Given the description of an element on the screen output the (x, y) to click on. 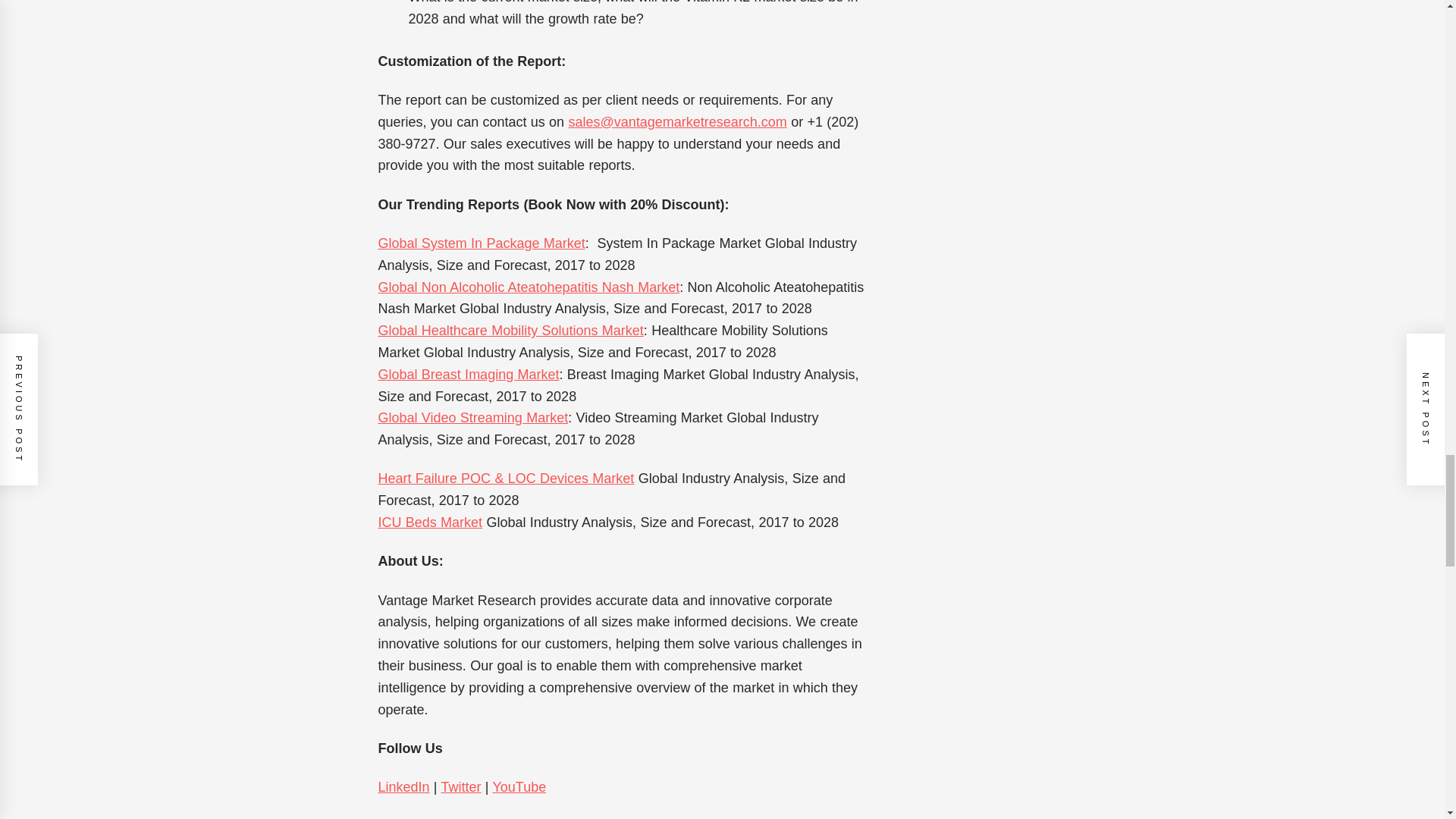
Global System In Package Market (481, 242)
Global Video Streaming Market (472, 417)
ICU Beds Market (429, 522)
LinkedIn (403, 786)
Global Breast Imaging Market (468, 374)
Global Healthcare Mobility Solutions Market (510, 330)
Twitter (460, 786)
Global Non Alcoholic Ateatohepatitis Nash Market (528, 287)
